Given the description of an element on the screen output the (x, y) to click on. 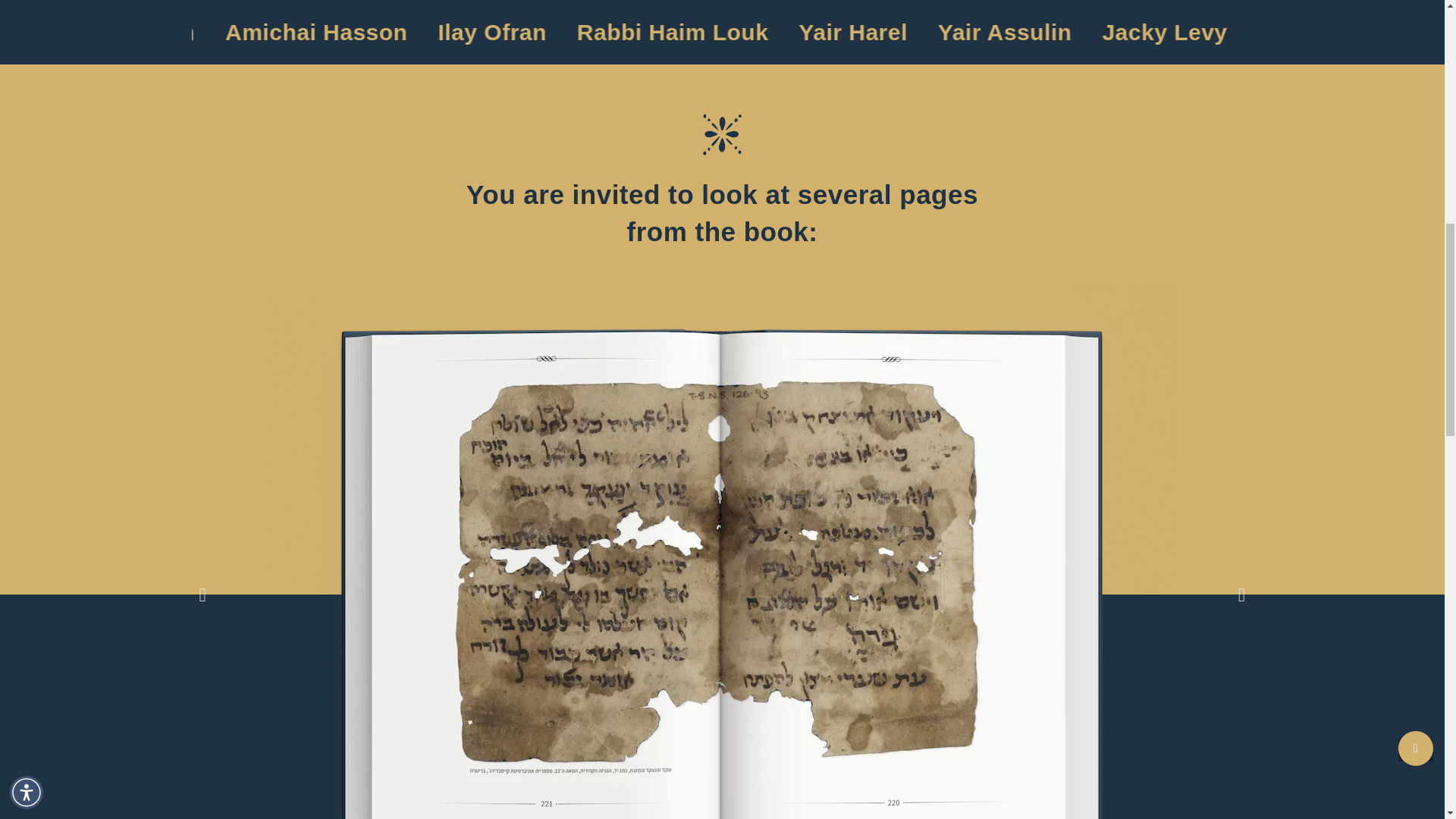
Amichai Hasson (1274, 32)
Shai Tzabari (909, 32)
Shai Tzabari (744, 32)
Prof. Avigdor Shinan (530, 32)
Neta Elkayam (1079, 32)
Prof. Haviva Pedaya (275, 32)
